Given the description of an element on the screen output the (x, y) to click on. 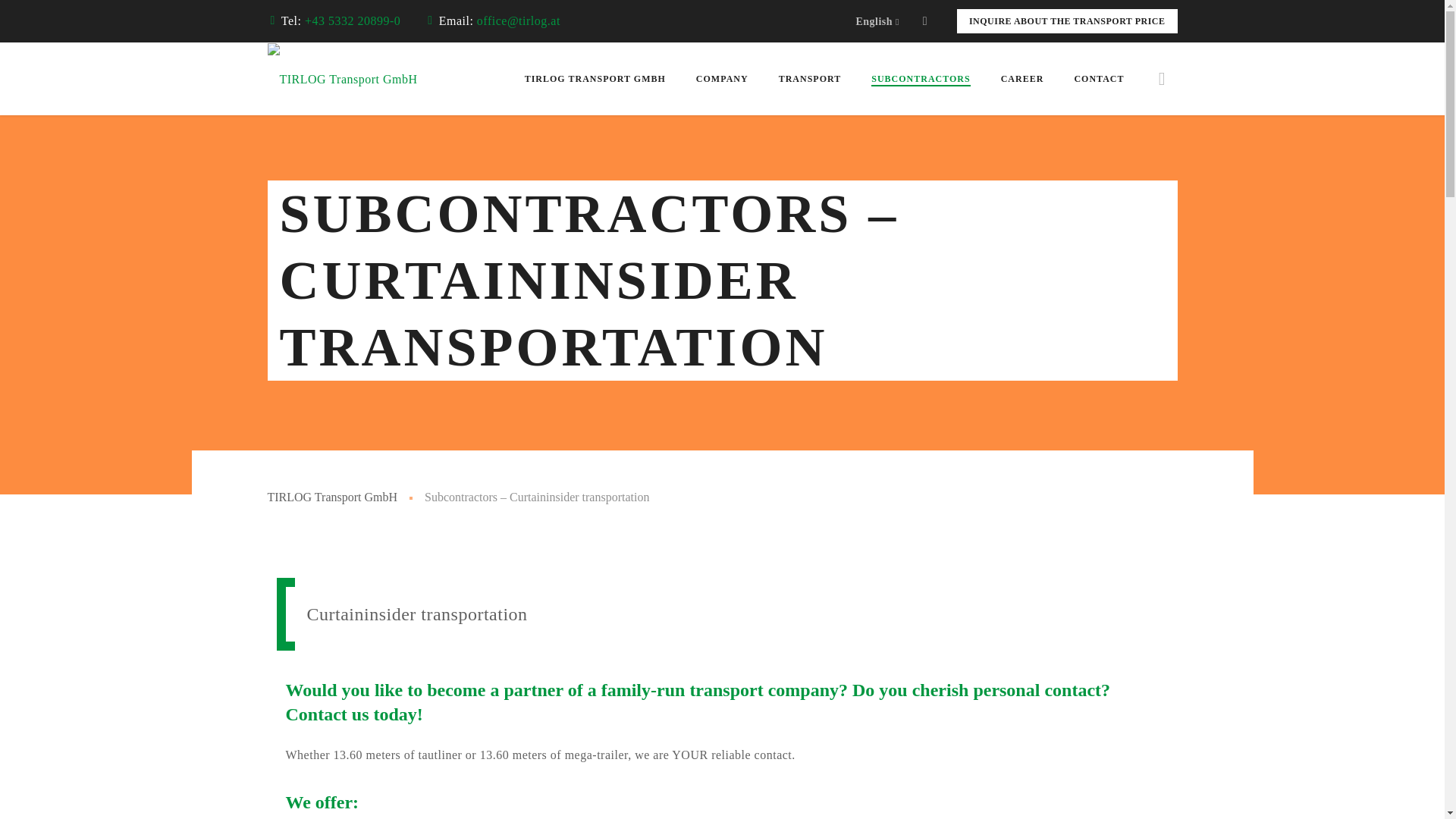
facebook (925, 21)
CAREER (1022, 78)
COMPANY (721, 78)
TRANSPORT (809, 78)
English (877, 21)
INQUIRE ABOUT THE TRANSPORT PRICE (1066, 21)
SUBCONTRACTORS (919, 78)
TIRLOG Transport GmbH (341, 78)
English (877, 21)
TIRLOG TRANSPORT GMBH (594, 78)
